Given the description of an element on the screen output the (x, y) to click on. 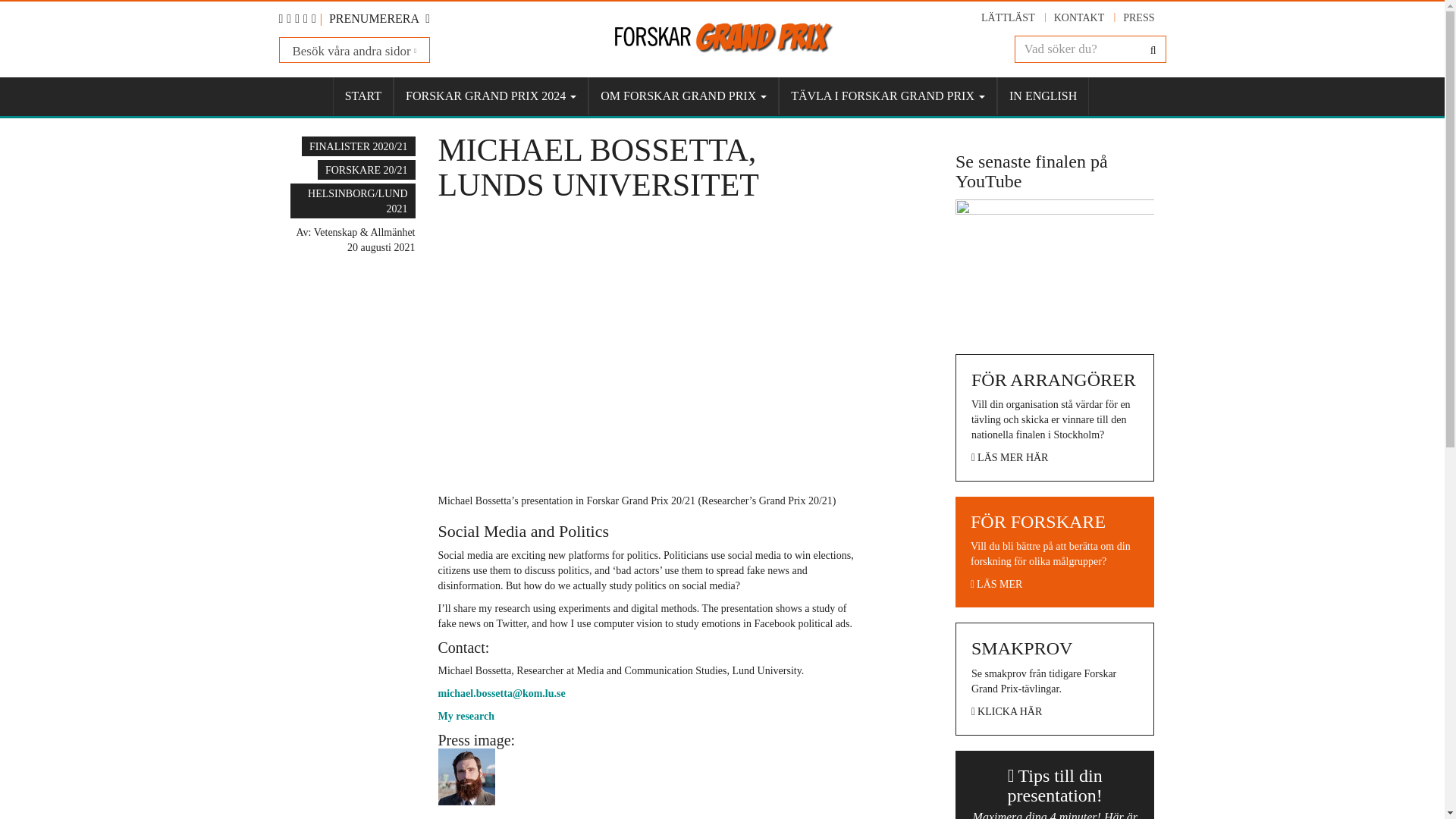
START (363, 95)
FORSKARFREDAG (354, 73)
ATT DELTA (886, 127)
KONTAKT (1079, 17)
PRESS (1138, 17)
Michael Bossetta (648, 346)
IN ENGLISH (1043, 95)
Michael Bossetta (466, 774)
OM FORSKAR GRAND PRIX (683, 95)
FORSKAR GRAND PRIX 2024 (490, 95)
